Given the description of an element on the screen output the (x, y) to click on. 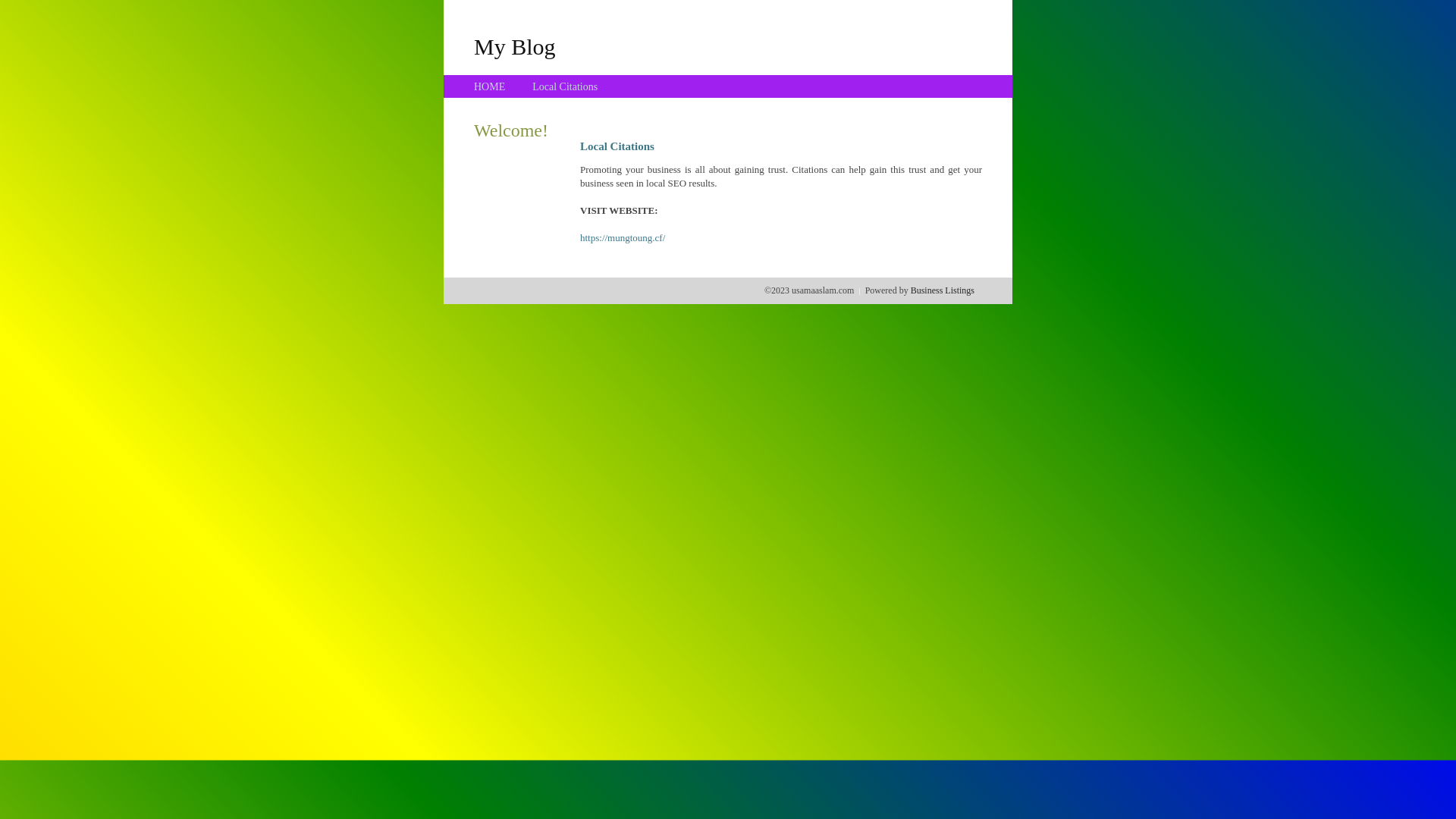
Local Citations Element type: text (564, 86)
HOME Element type: text (489, 86)
Business Listings Element type: text (942, 290)
https://mungtoung.cf/ Element type: text (622, 237)
My Blog Element type: text (514, 46)
